Given the description of an element on the screen output the (x, y) to click on. 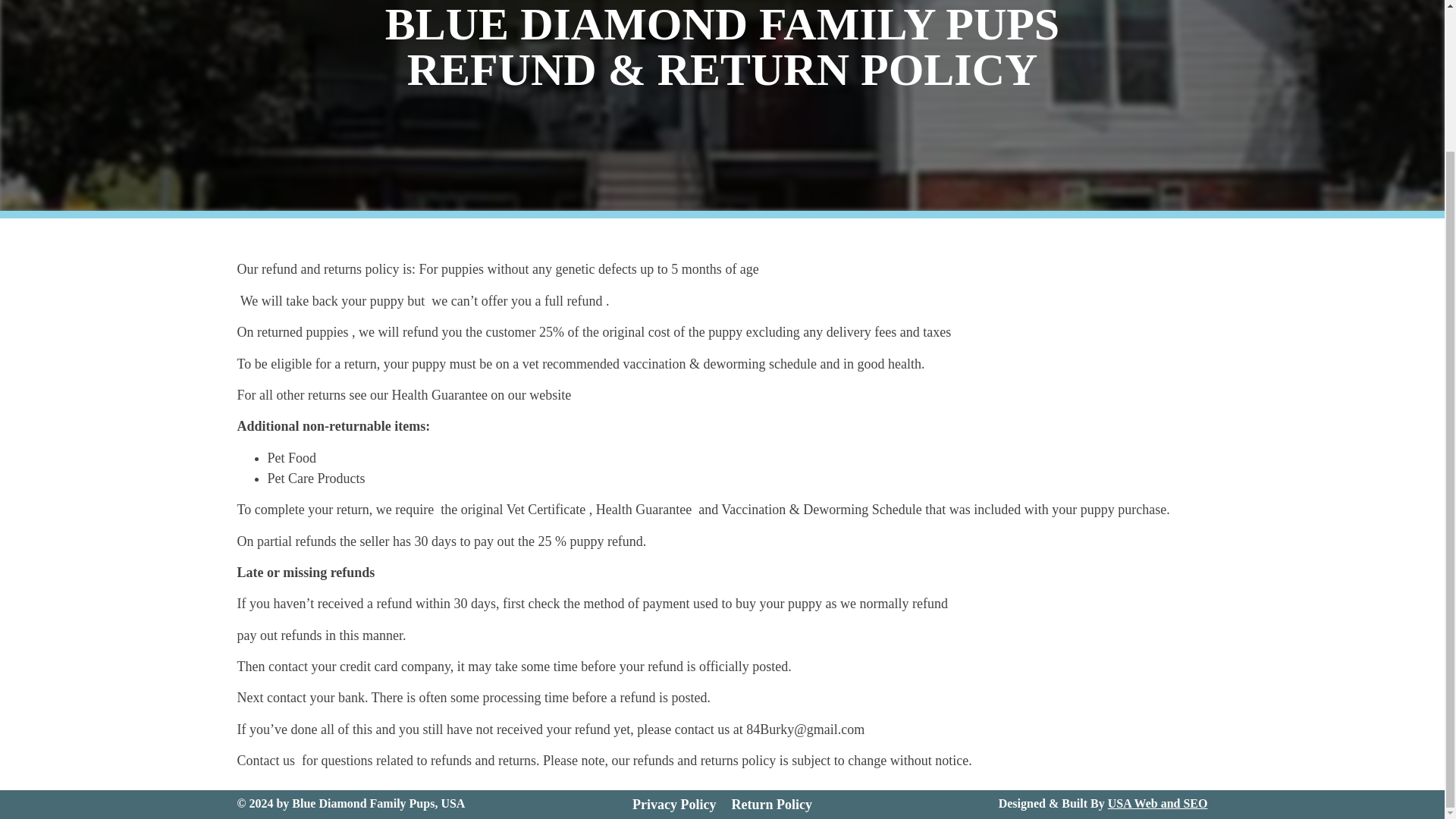
USA Web and SEO (1158, 802)
Return Policy (770, 804)
Privacy Policy (673, 804)
